Given the description of an element on the screen output the (x, y) to click on. 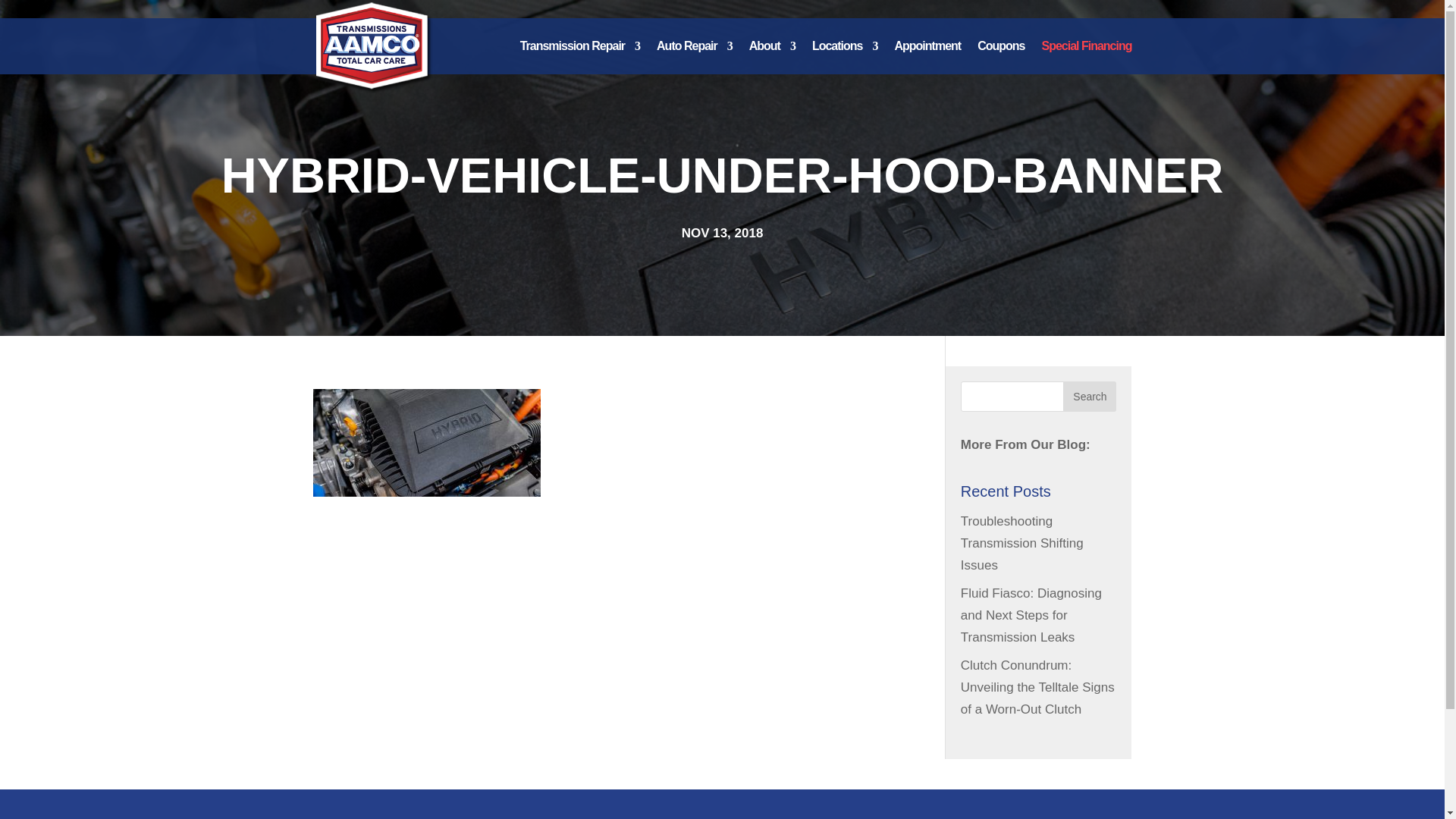
About (771, 57)
Auto Repair (694, 57)
Transmission Repair (579, 57)
Search (1089, 396)
Special Financing (1086, 57)
Appointment (926, 57)
Coupons (1000, 57)
Locations (844, 57)
